Given the description of an element on the screen output the (x, y) to click on. 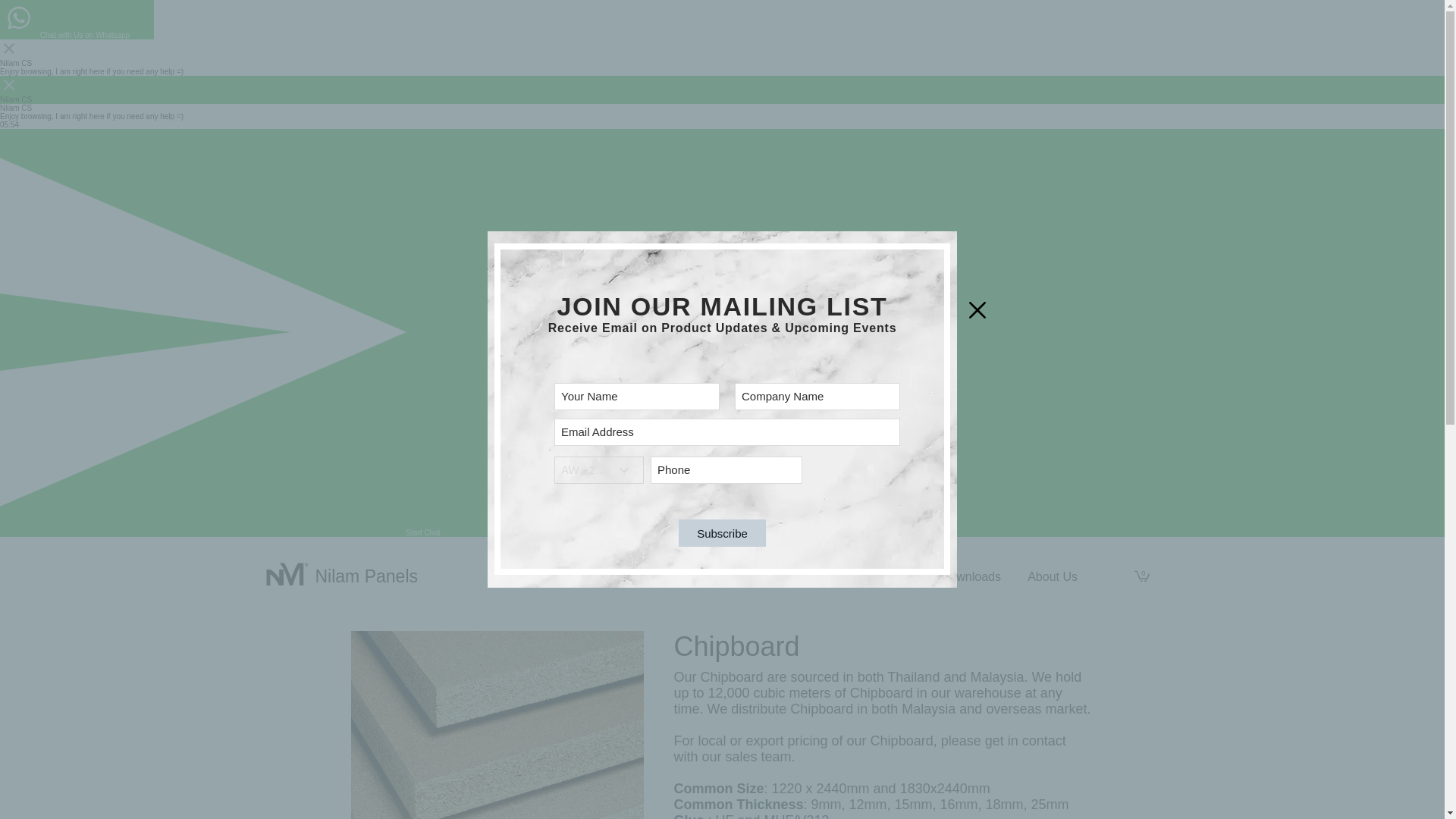
Back to site (977, 310)
Colour Collection (700, 575)
Downloads (967, 575)
0 (1142, 574)
0 (1142, 574)
Info Center (880, 575)
